Given the description of an element on the screen output the (x, y) to click on. 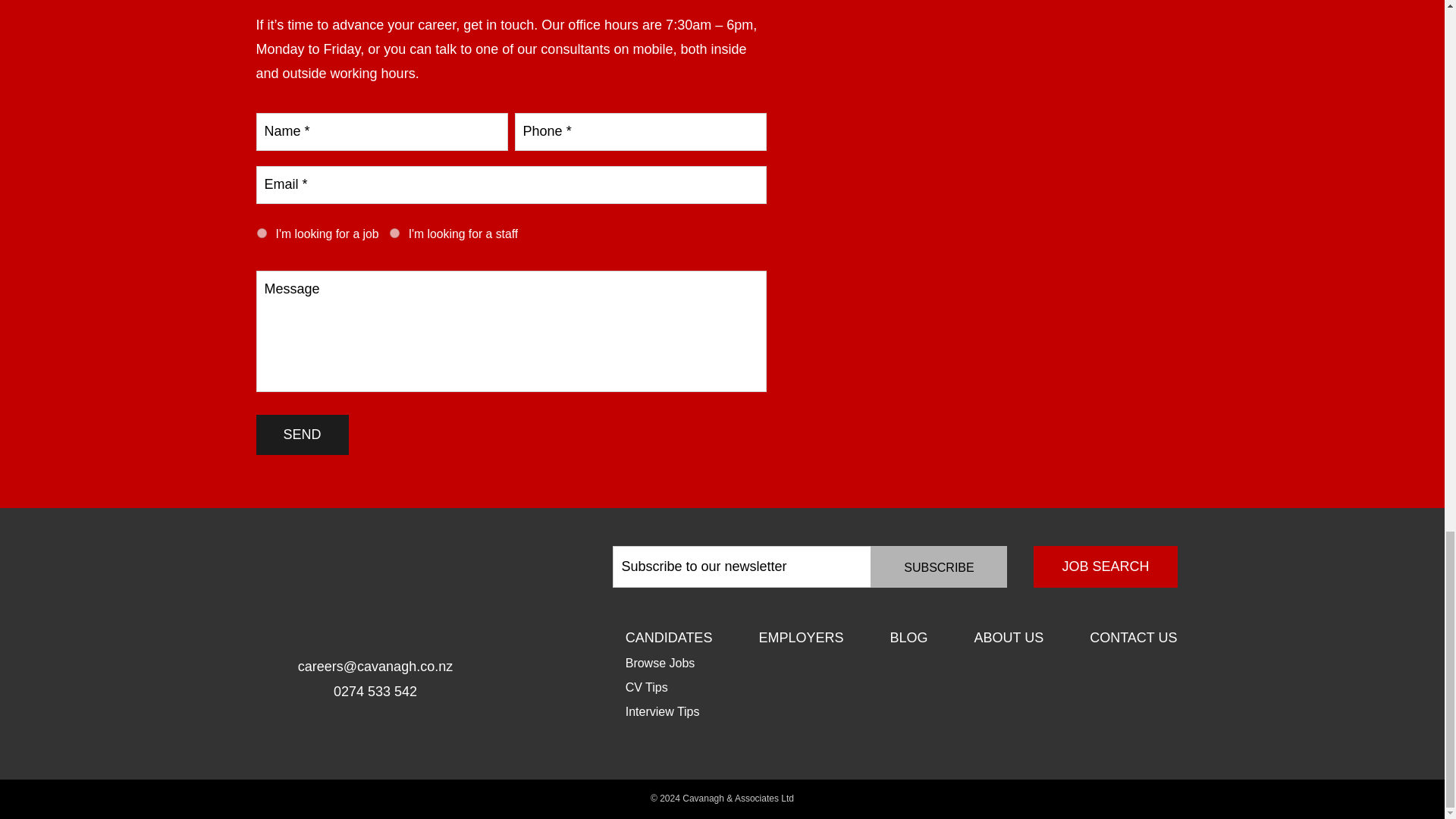
Job (261, 233)
BLOG (908, 637)
SEND (302, 434)
ABOUT US (1008, 637)
SEND (302, 434)
Facebook (359, 739)
Staff (394, 233)
JOB SEARCH (1104, 567)
SUBSCRIBE (938, 567)
CANDIDATES (669, 637)
